Given the description of an element on the screen output the (x, y) to click on. 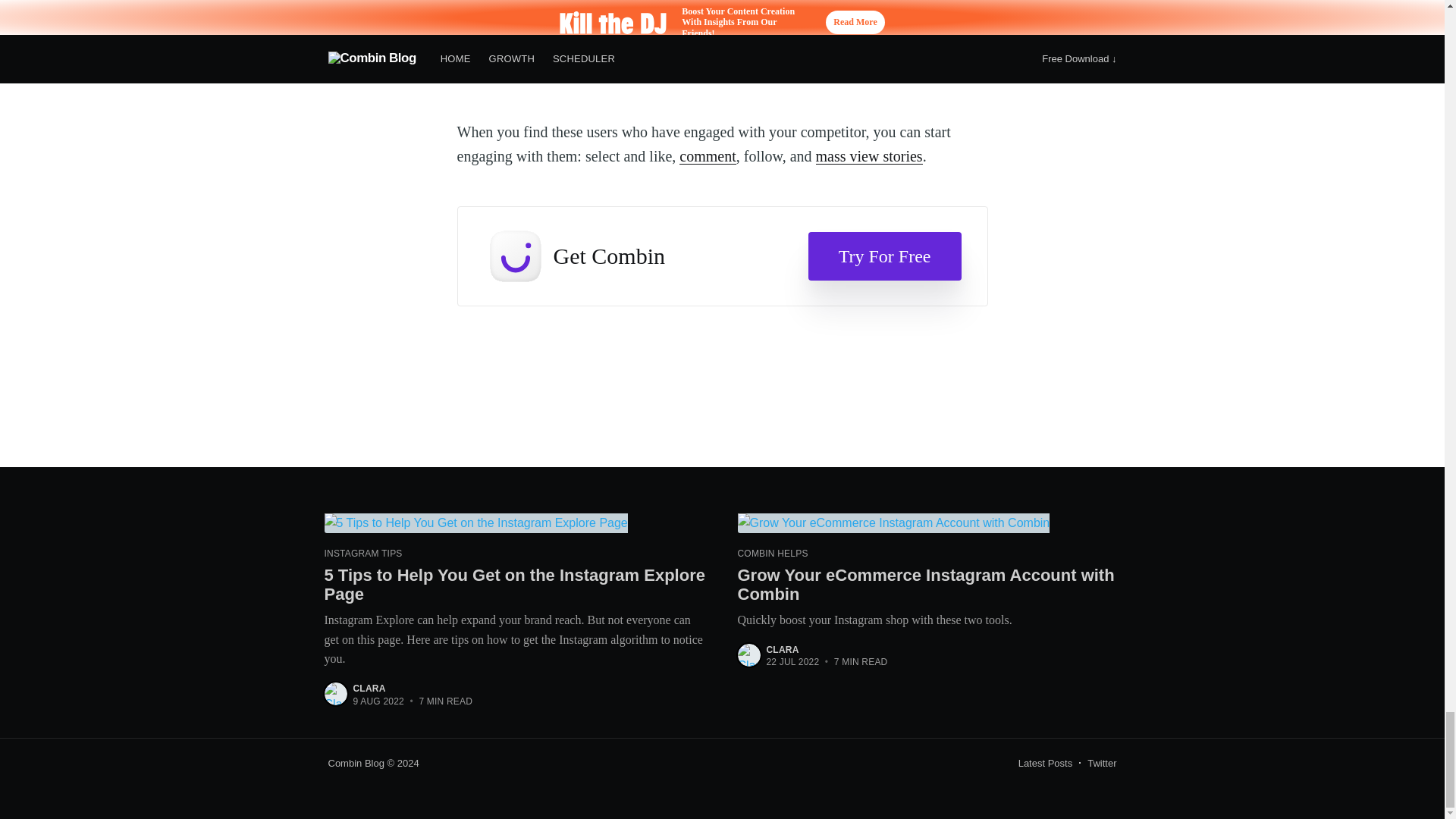
Combin Blog (355, 763)
Latest Posts (1045, 763)
Twitter (1101, 763)
CLARA (781, 649)
mass view stories (869, 156)
CLARA (369, 688)
Try For Free (884, 255)
comment (707, 156)
